Given the description of an element on the screen output the (x, y) to click on. 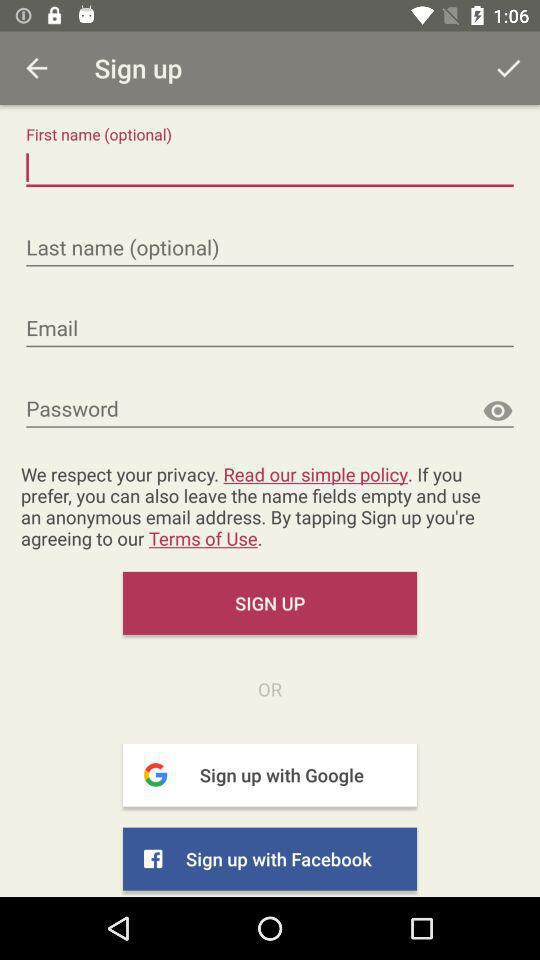
select the field which contains the word email (269, 329)
select text field which is at 2nd line of the page (269, 248)
select the tick mark which is on the top right corner (508, 68)
click on sign up (269, 603)
click on the eye image option to the right of the text password (497, 411)
click on the text field password (269, 409)
click on sign up with google which is bottom second (269, 775)
